Given the description of an element on the screen output the (x, y) to click on. 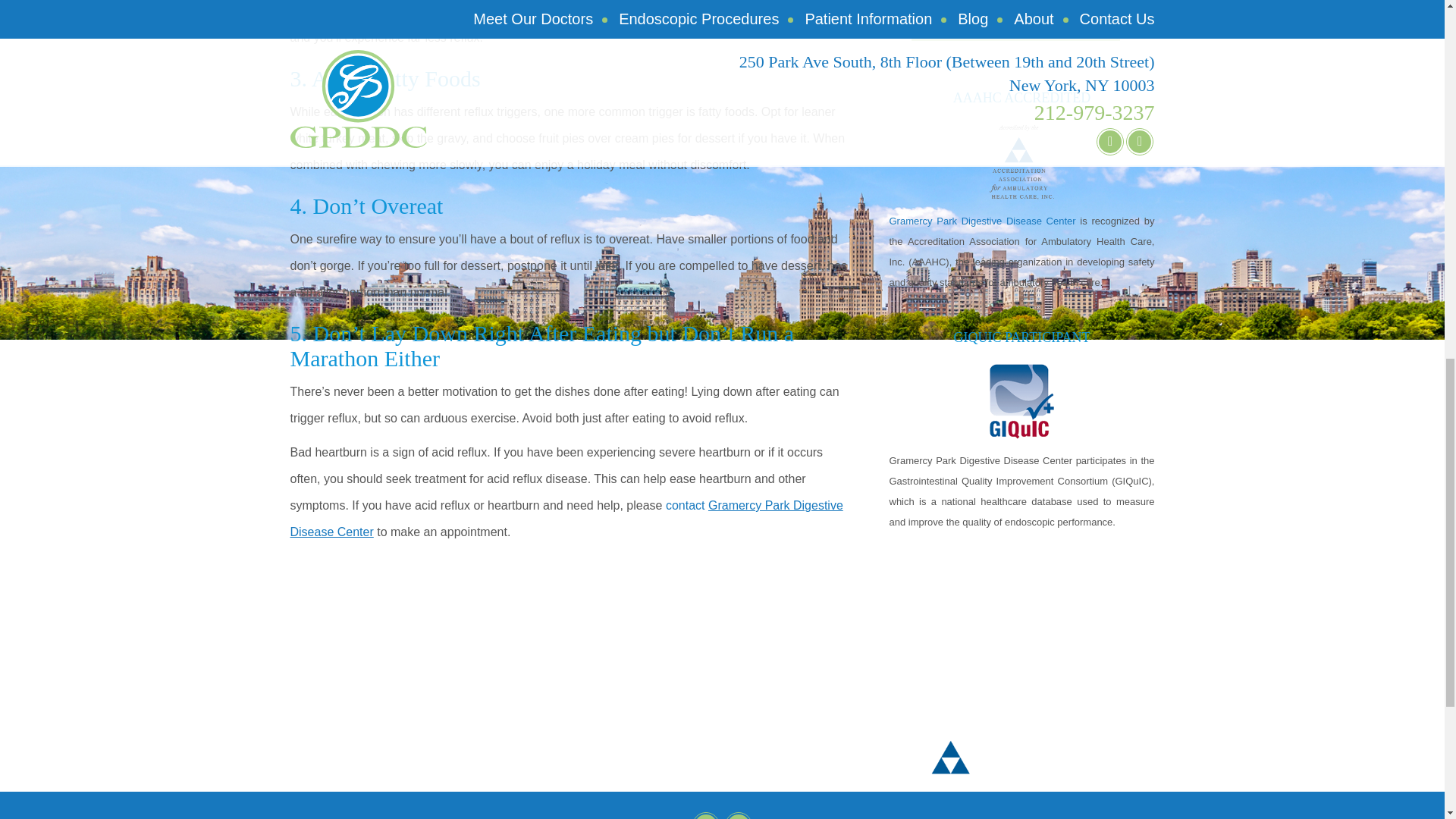
Gramercy Park Digestive Disease Center (566, 518)
contact (684, 504)
Submit (1015, 20)
Gramercy Park Digestive Disease Center (984, 220)
Submit (1015, 20)
